Given the description of an element on the screen output the (x, y) to click on. 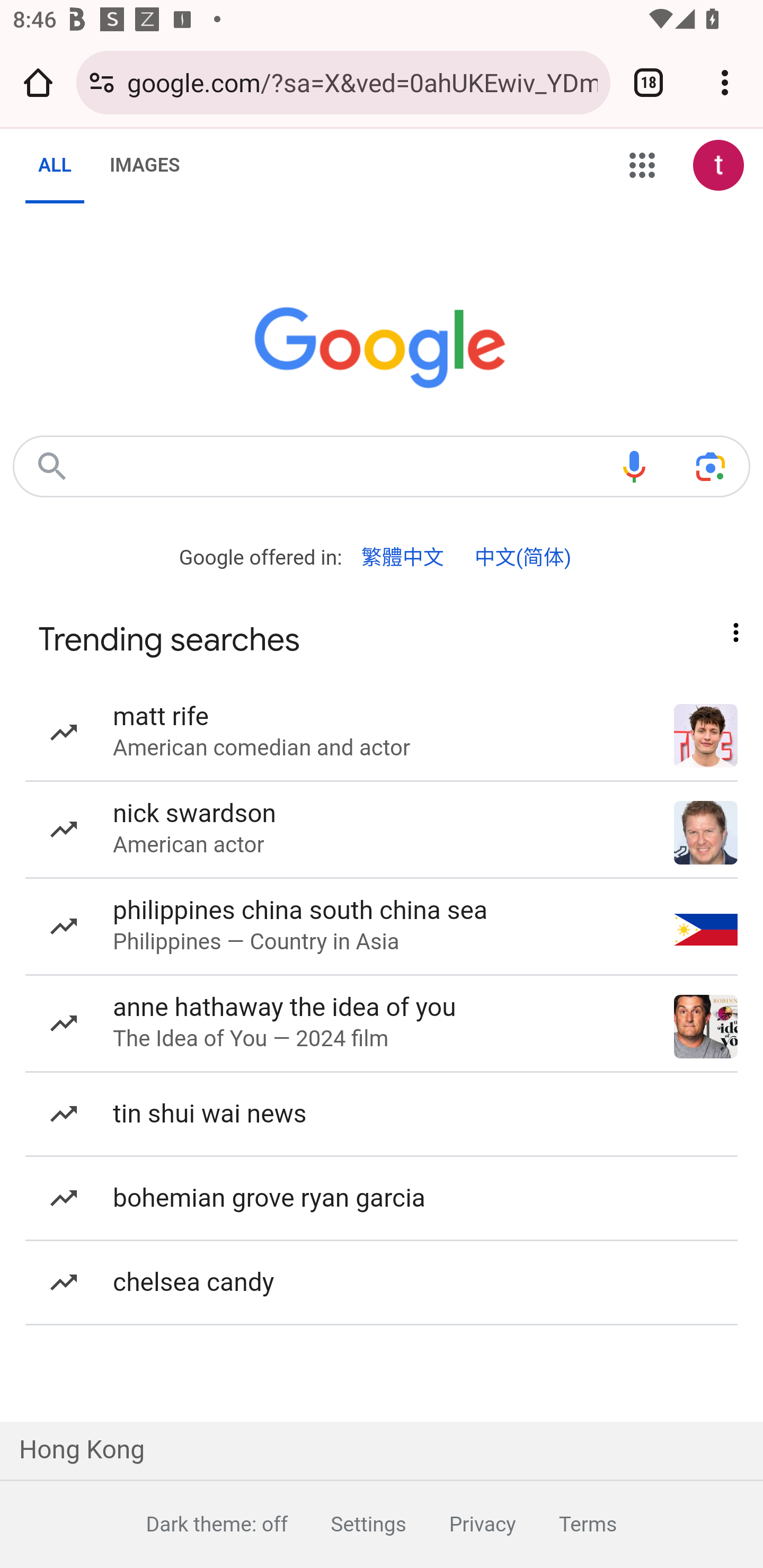
Open the home page (38, 82)
Connection is secure (101, 82)
Switch or close tabs (648, 82)
Customize and control Google Chrome (724, 82)
IMAGES (144, 165)
Google apps (641, 165)
Google Search (52, 466)
Search using your camera or photos (710, 466)
繁體中文 (402, 557)
中文(简体) (522, 557)
tin shui wai news (381, 1114)
bohemian grove ryan garcia (381, 1199)
chelsea candy (381, 1282)
Dark theme: off (195, 1523)
Settings (346, 1523)
Privacy (460, 1523)
Terms (566, 1523)
